Given the description of an element on the screen output the (x, y) to click on. 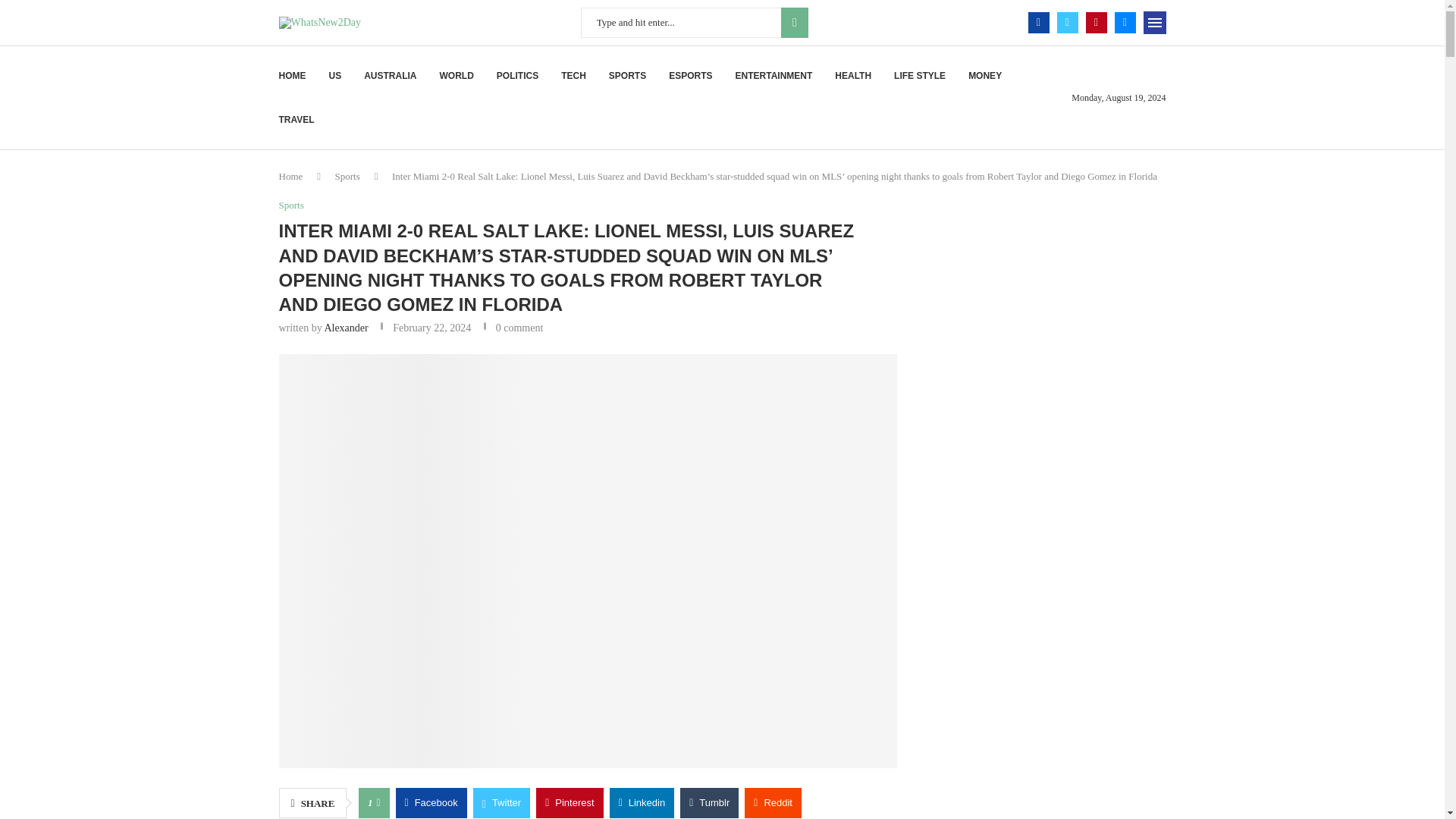
ESPORTS (689, 75)
POLITICS (517, 75)
SEARCH (794, 22)
LIFE STYLE (918, 75)
ENTERTAINMENT (773, 75)
AUSTRALIA (390, 75)
